Given the description of an element on the screen output the (x, y) to click on. 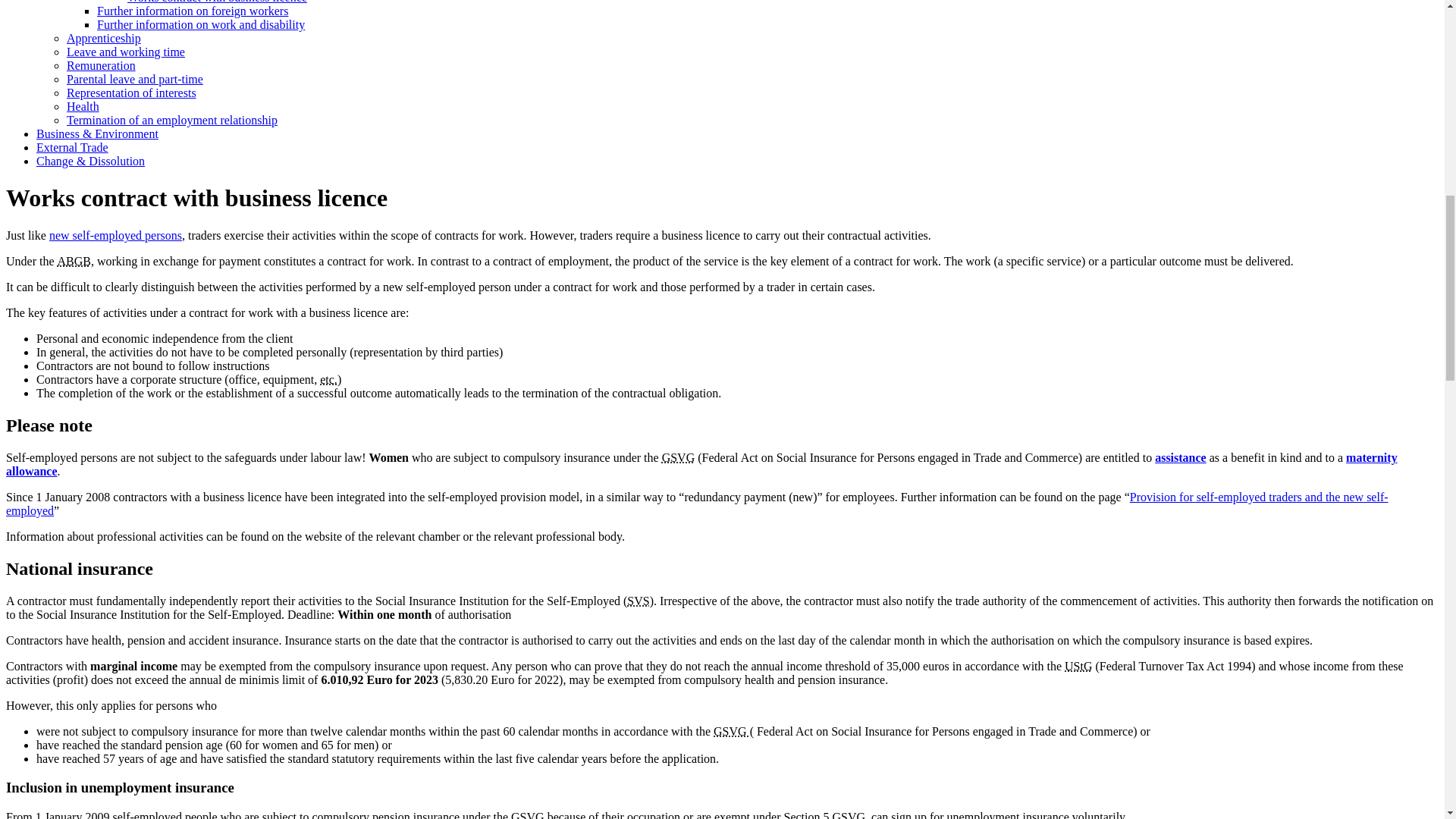
Gewerblichen Sozialversicherungsgesetz (733, 730)
Gewerblichen Sozialversicherungsgesetz (847, 814)
Gewerblichen Sozialversicherungsgesetz (527, 814)
Umsatzsteuergesetz (1078, 666)
et cetera (328, 379)
Gewerblichen Sozialversicherungsgesetz (678, 457)
